Given the description of an element on the screen output the (x, y) to click on. 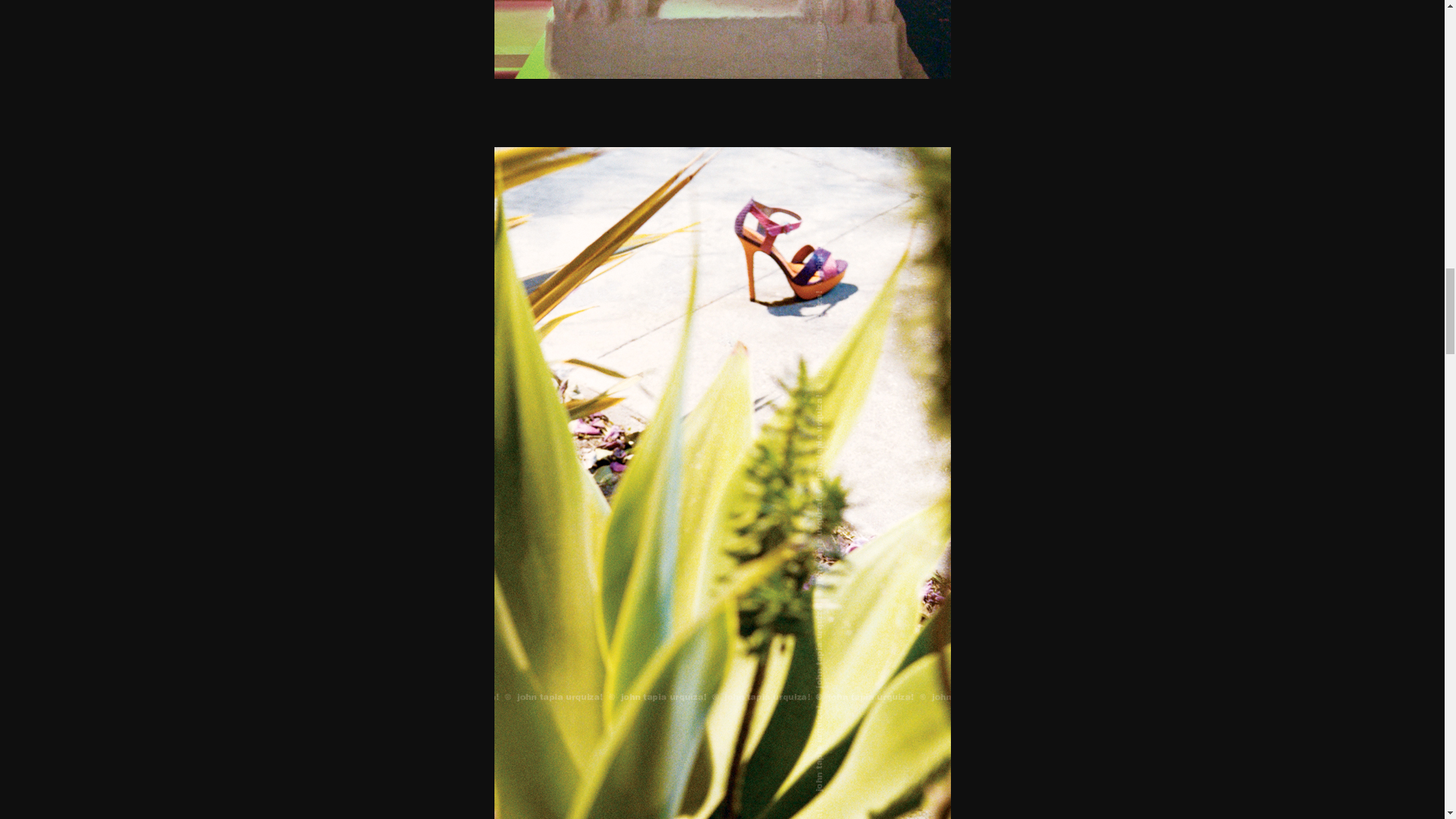
arroyo nights 03 (722, 39)
